Given the description of an element on the screen output the (x, y) to click on. 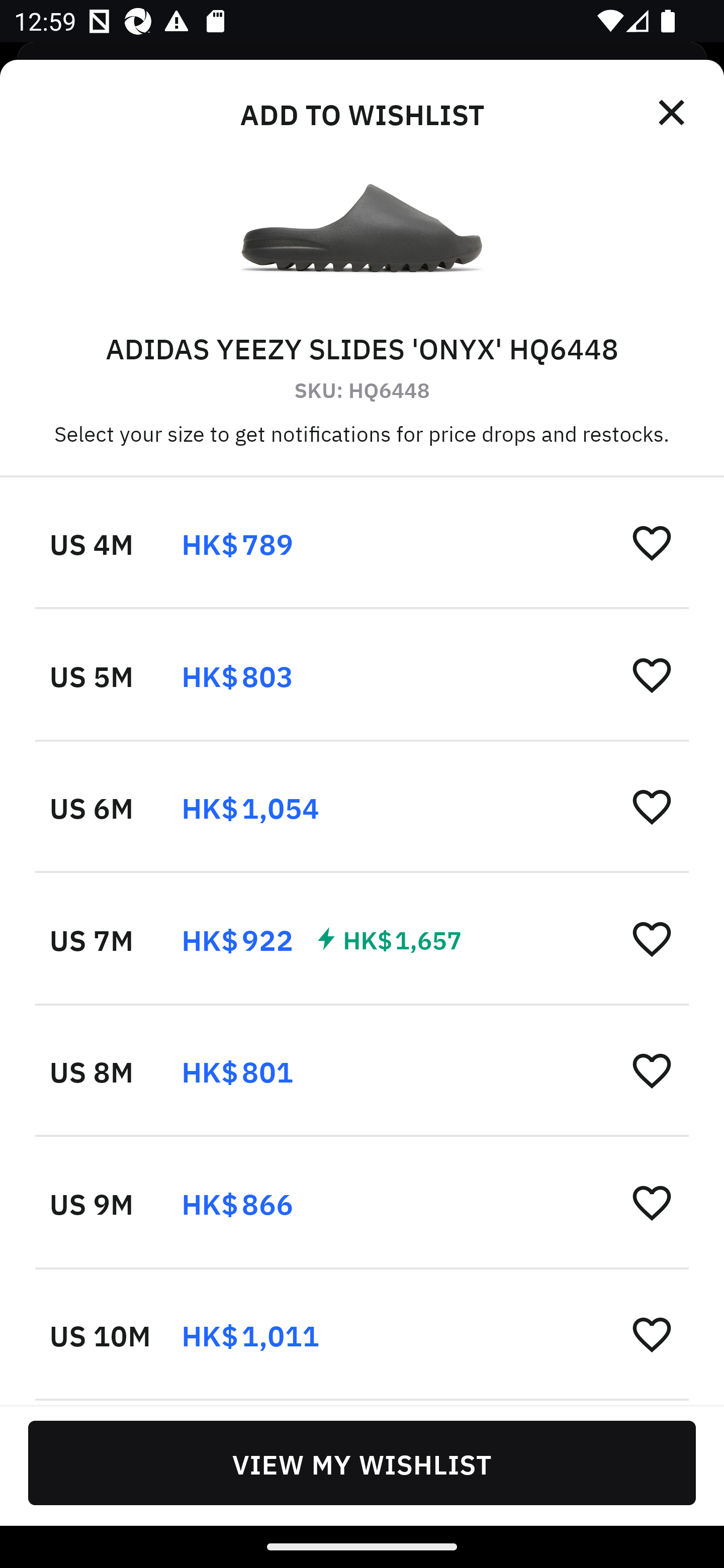
 (672, 112)
󰋕 (651, 542)
󰋕 (651, 674)
󰋕 (651, 806)
󰋕 (651, 938)
󰋕 (651, 1069)
󰋕 (651, 1201)
󰋕 (651, 1333)
VIEW MY WISHLIST (361, 1462)
